Given the description of an element on the screen output the (x, y) to click on. 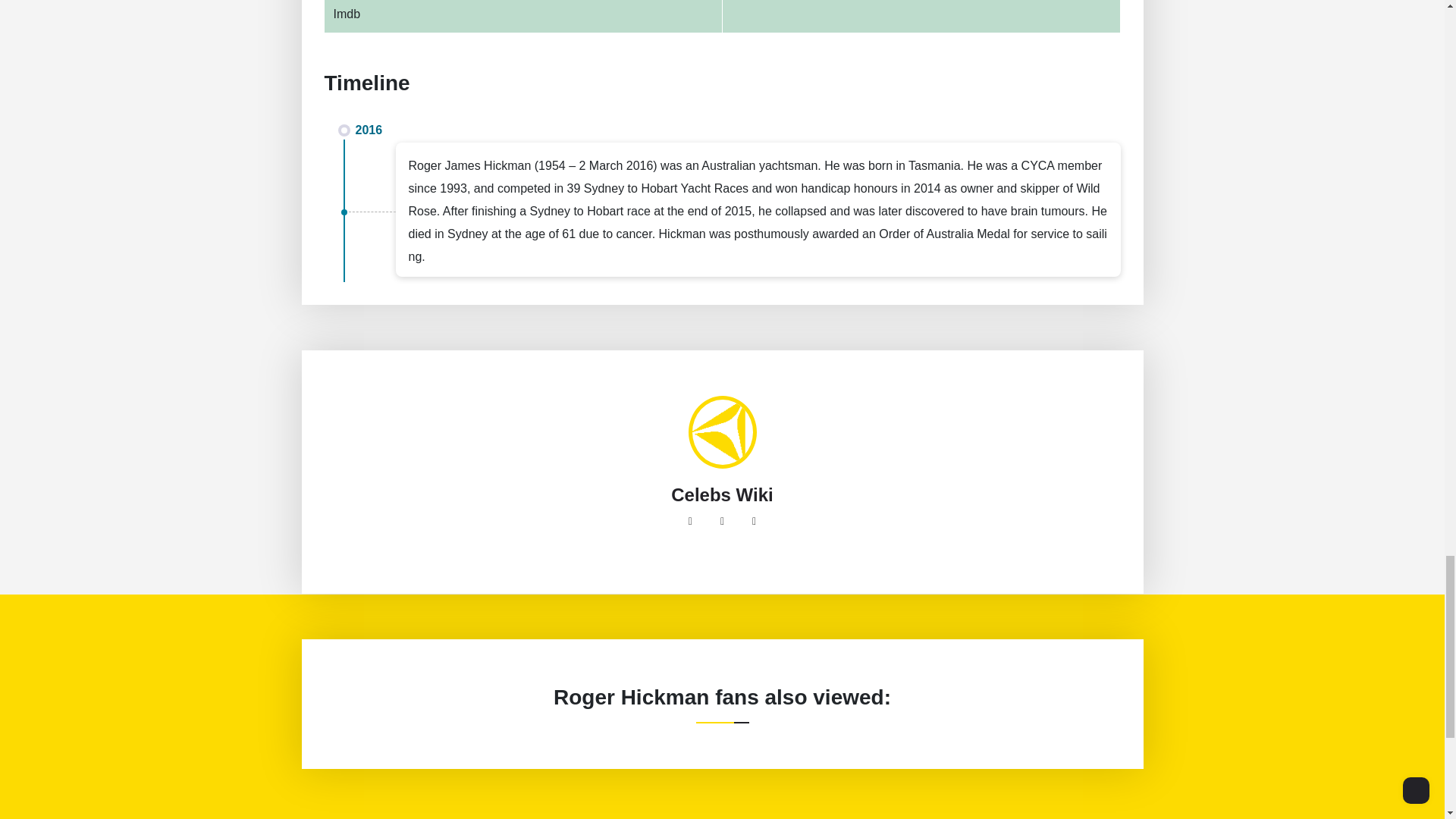
Celebs Wiki (722, 495)
